Given the description of an element on the screen output the (x, y) to click on. 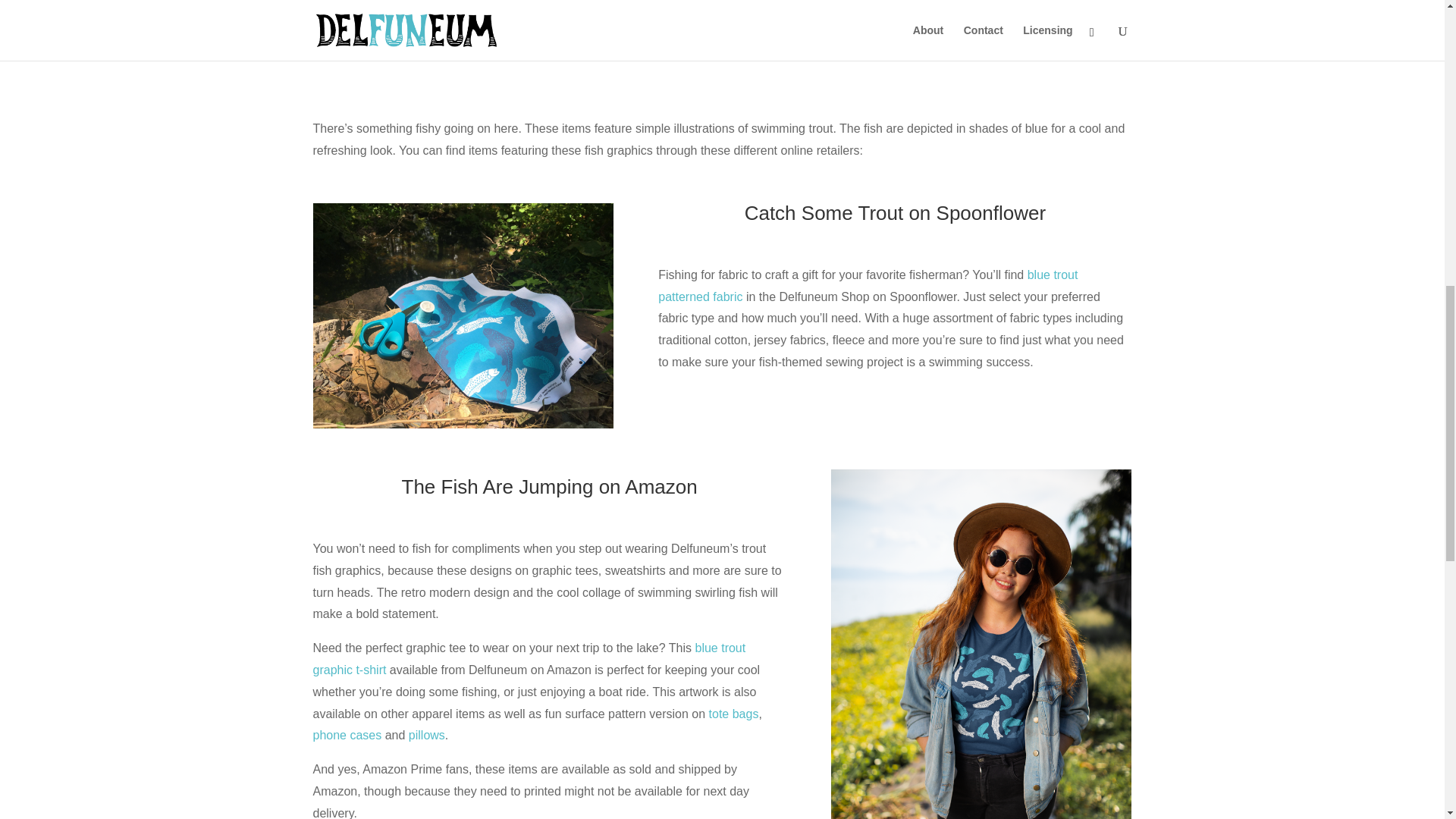
blue trout patterned fabric (867, 285)
tote bags (733, 713)
phone cases (347, 735)
pillows (427, 735)
blue trout graphic t-shirt (529, 658)
